Given the description of an element on the screen output the (x, y) to click on. 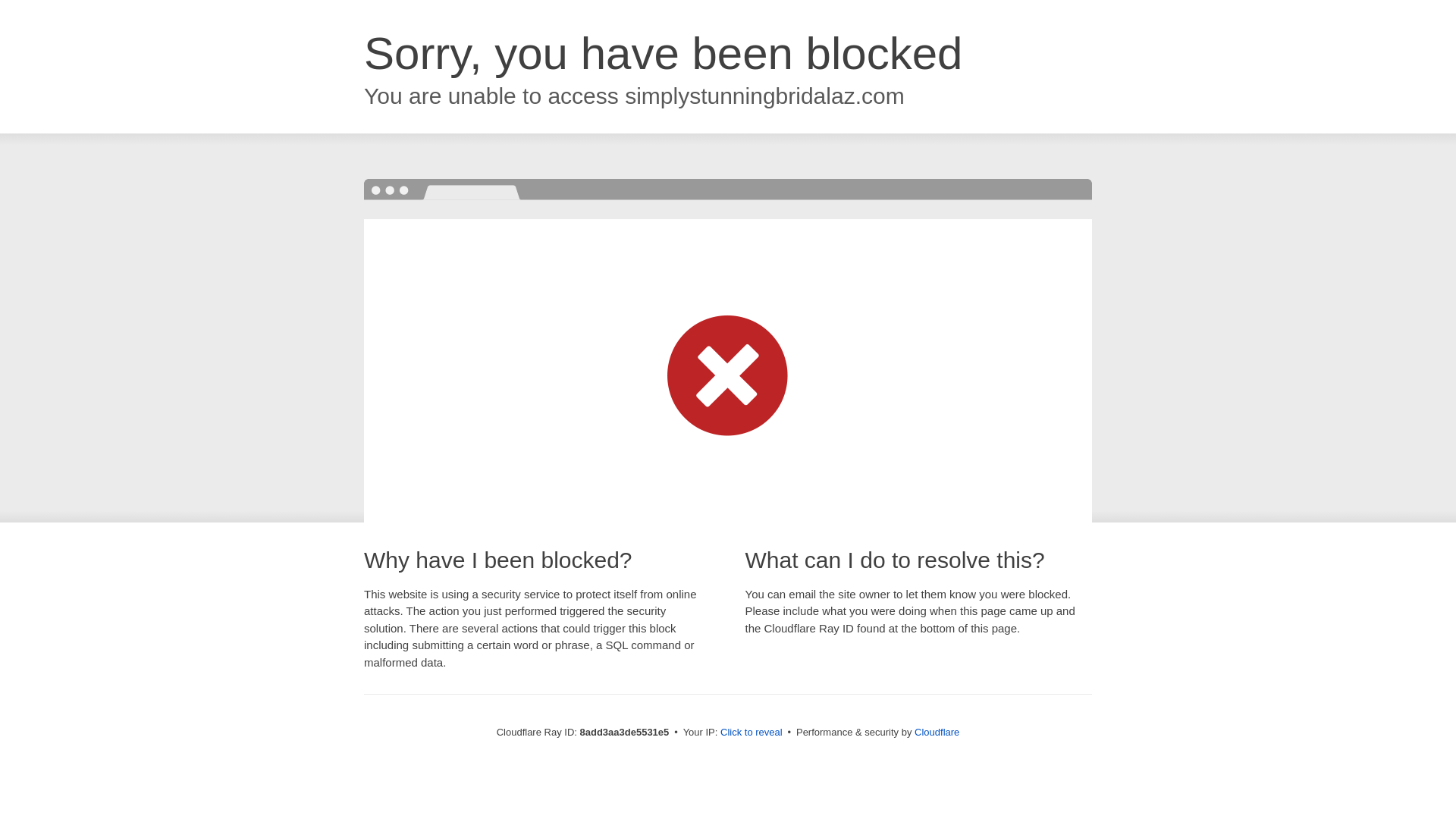
Cloudflare (936, 731)
Click to reveal (751, 732)
